Given the description of an element on the screen output the (x, y) to click on. 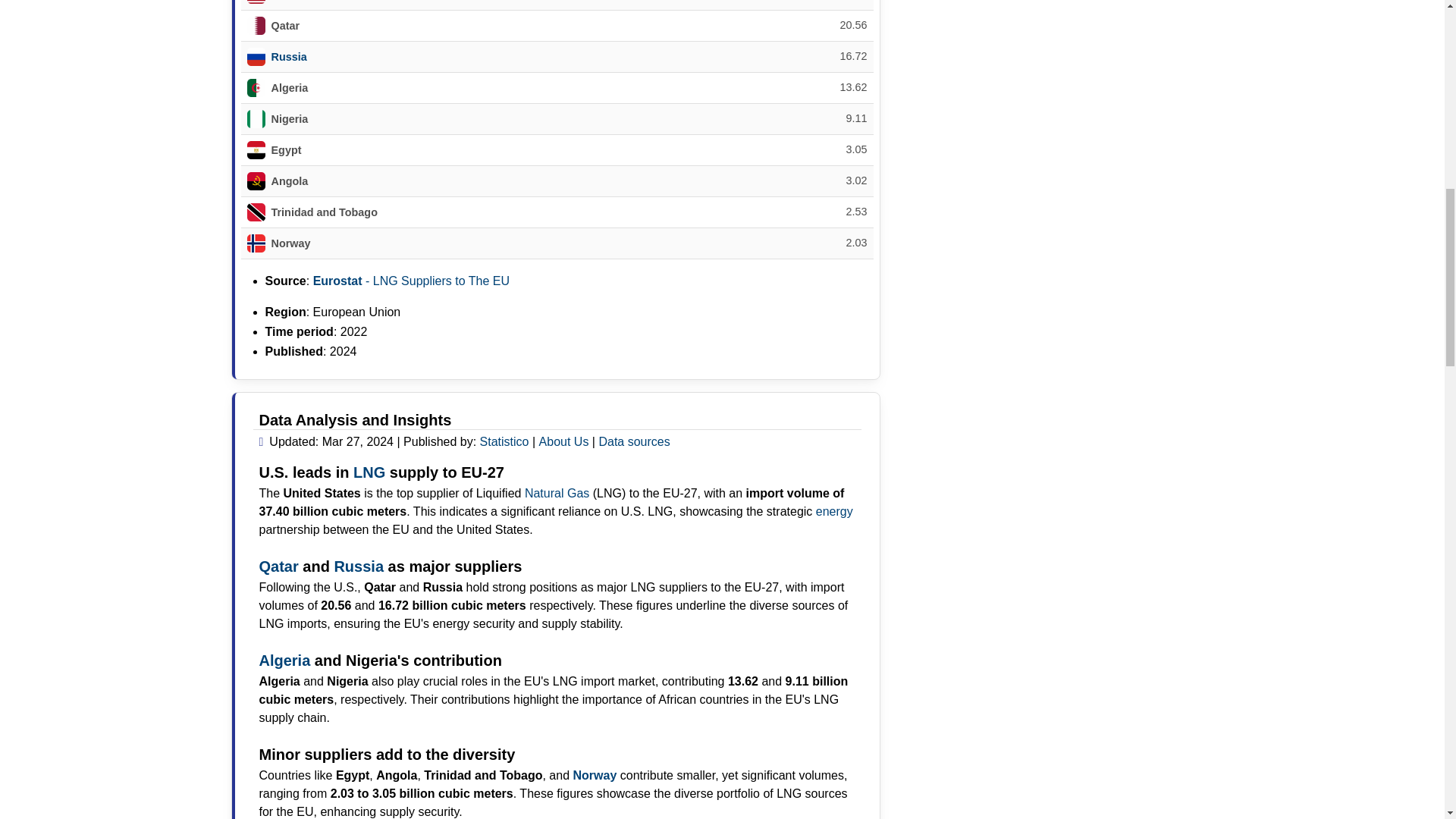
Statistico - Data sources (633, 440)
U.S.: LNG Export Prices, by year (369, 472)
Statistico (504, 440)
Statistico Data team (504, 440)
Natural Gas: Production Change, by country (556, 492)
Natural Gas: Production Change, by country (358, 565)
Eurostat - LNG Suppliers to The EU (411, 280)
Data sources (633, 440)
About Us (563, 440)
Natural Gas (556, 492)
Russia (288, 56)
Russia (358, 565)
energy (834, 511)
Norway (595, 775)
